Given the description of an element on the screen output the (x, y) to click on. 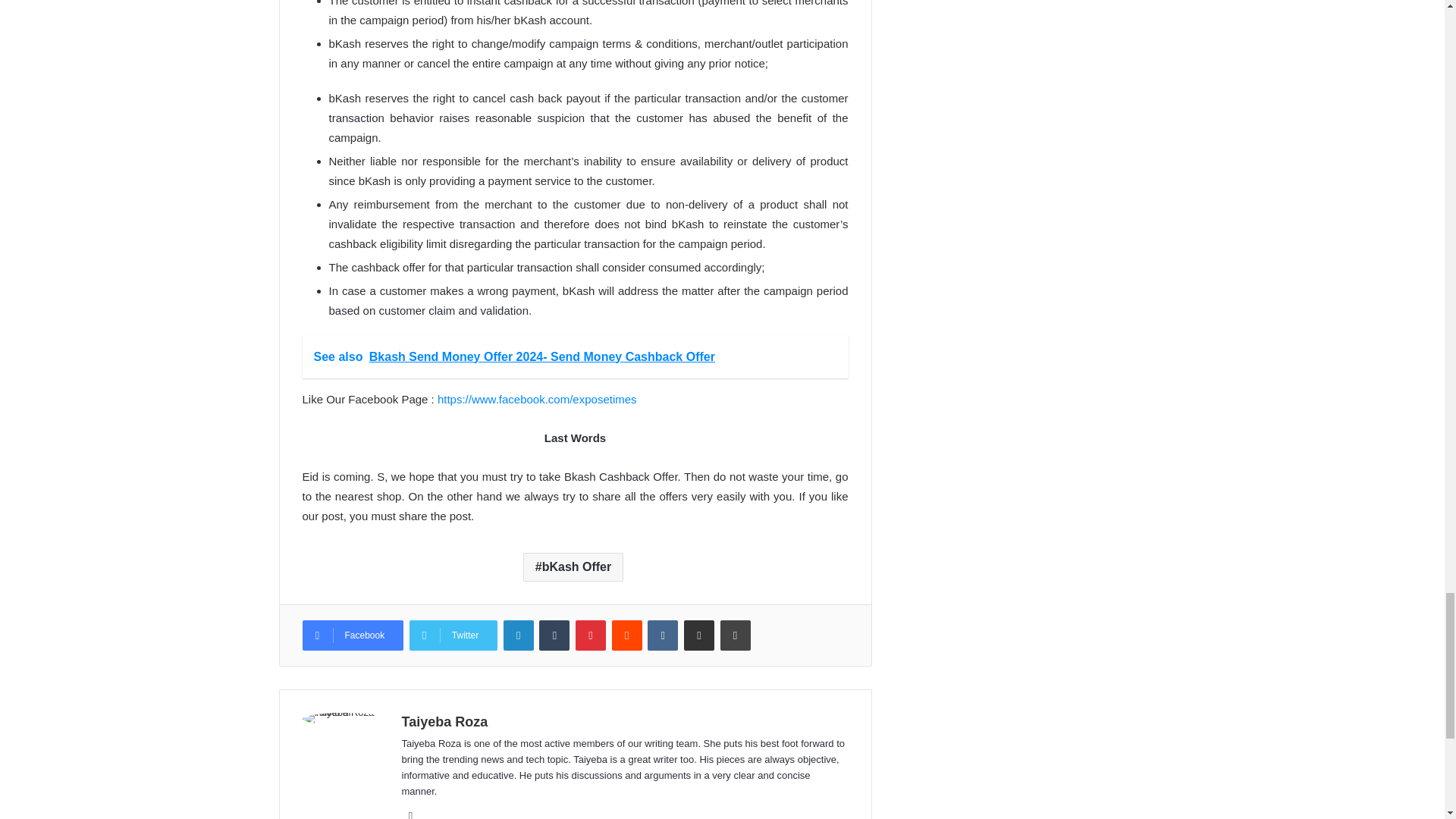
Reddit (626, 634)
LinkedIn (518, 634)
Pinterest (590, 634)
Twitter (453, 634)
Facebook (352, 634)
VKontakte (662, 634)
Pinterest (590, 634)
VKontakte (662, 634)
Share via Email (699, 634)
Facebook (352, 634)
Tumblr (553, 634)
Share via Email (699, 634)
Twitter (453, 634)
Reddit (626, 634)
